Given the description of an element on the screen output the (x, y) to click on. 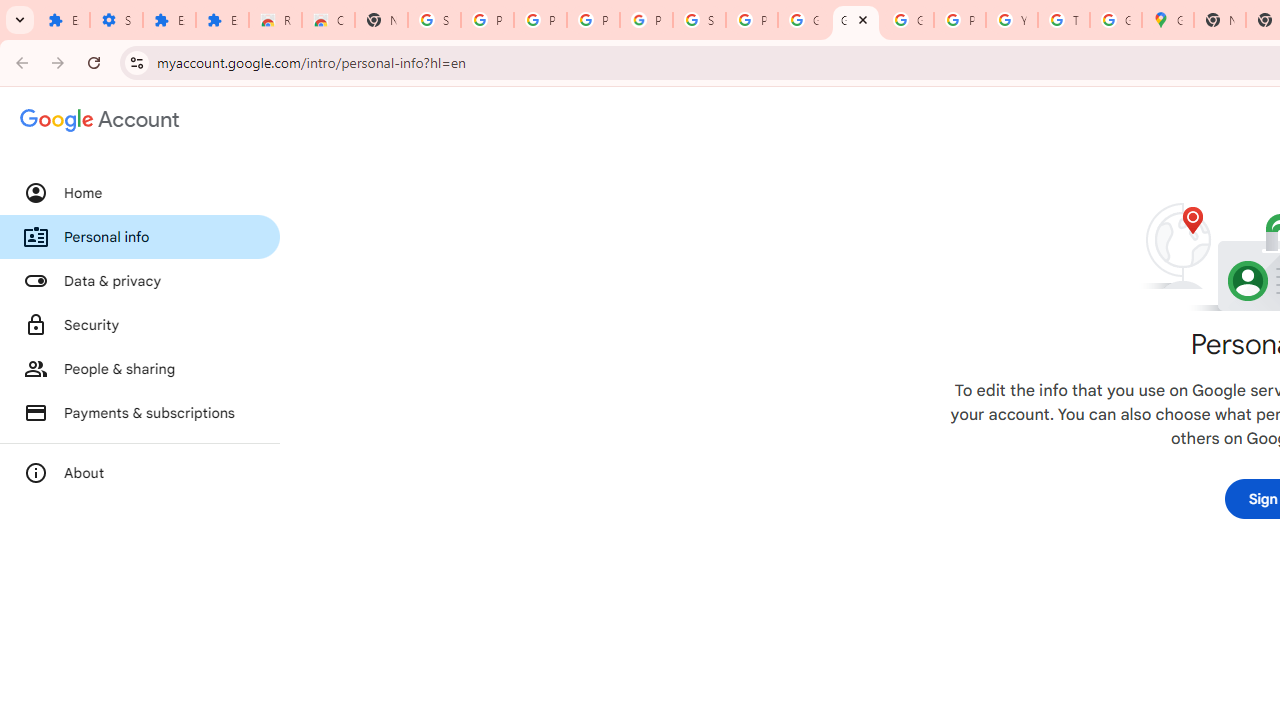
People & sharing (140, 368)
Payments & subscriptions (140, 412)
Sign in - Google Accounts (699, 20)
Google Account (855, 20)
Personal info (140, 237)
Data & privacy (140, 281)
Extensions (169, 20)
